Given the description of an element on the screen output the (x, y) to click on. 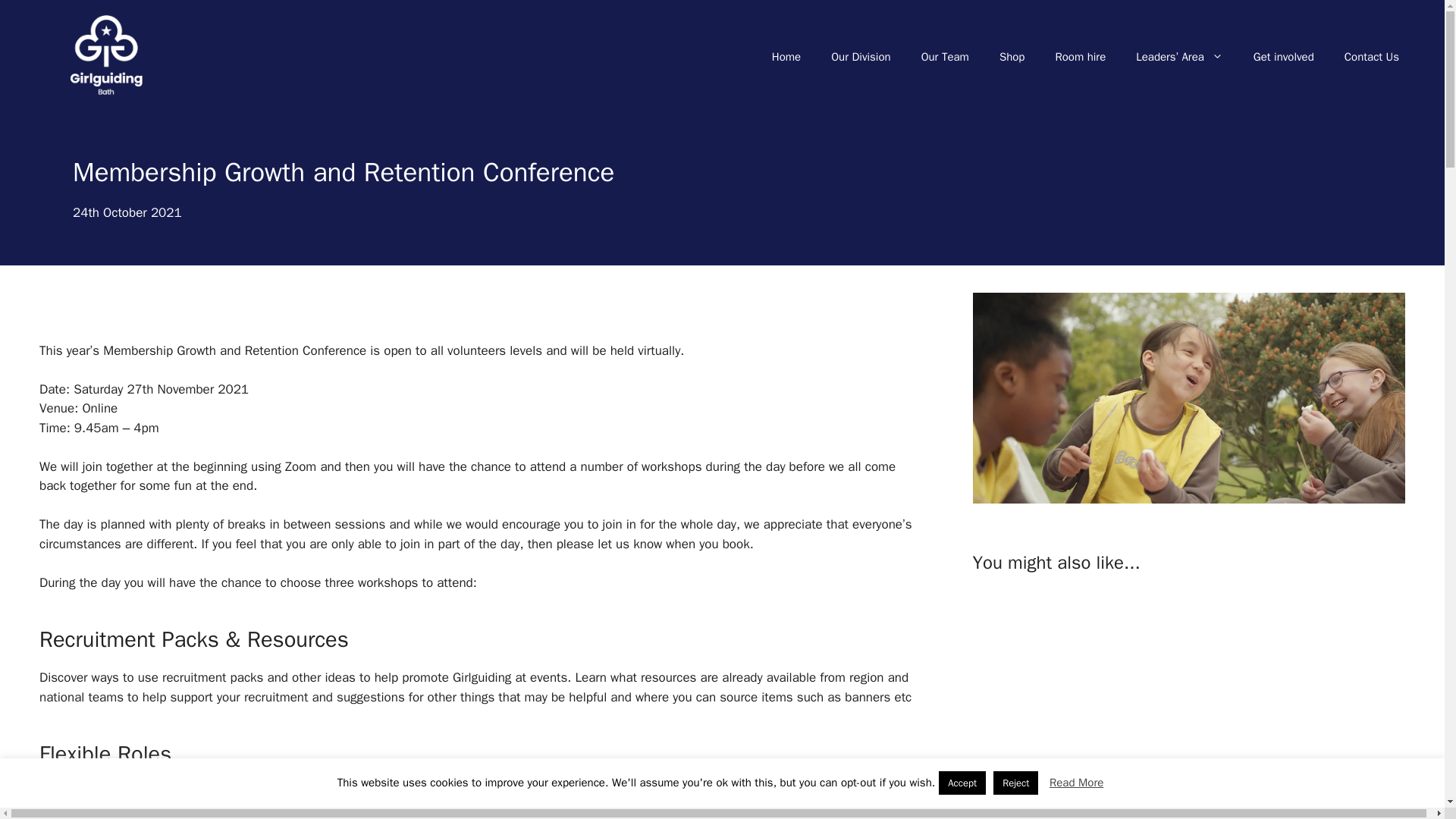
Shop (1012, 56)
Contact Us (1371, 56)
Our Team (944, 56)
Accept (962, 782)
Home (786, 56)
Read More (1076, 782)
Our Division (860, 56)
Room hire (1080, 56)
Get involved (1284, 56)
YouTube video player (1184, 705)
